Given the description of an element on the screen output the (x, y) to click on. 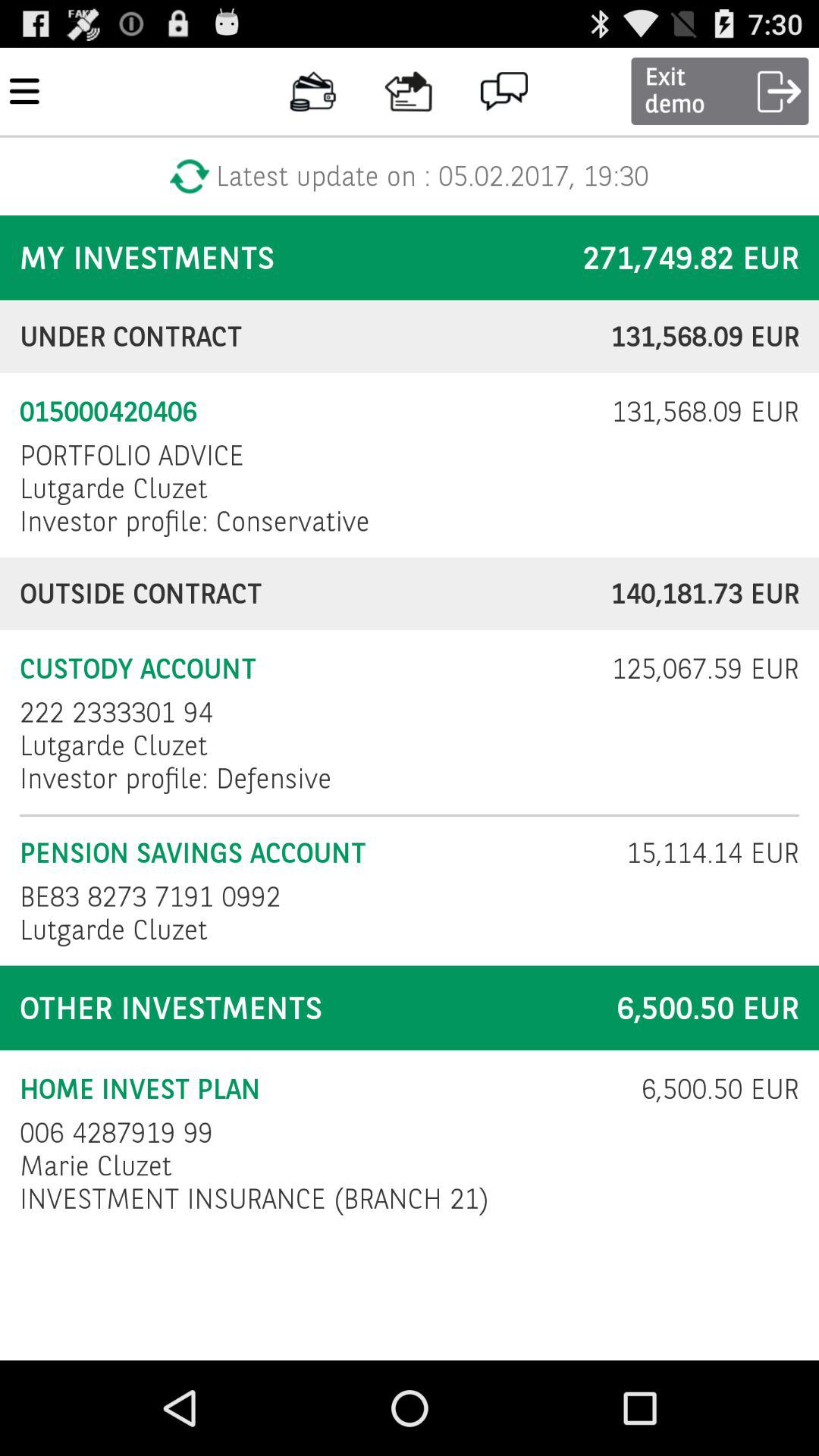
press the be83 8273 7191 (153, 896)
